Given the description of an element on the screen output the (x, y) to click on. 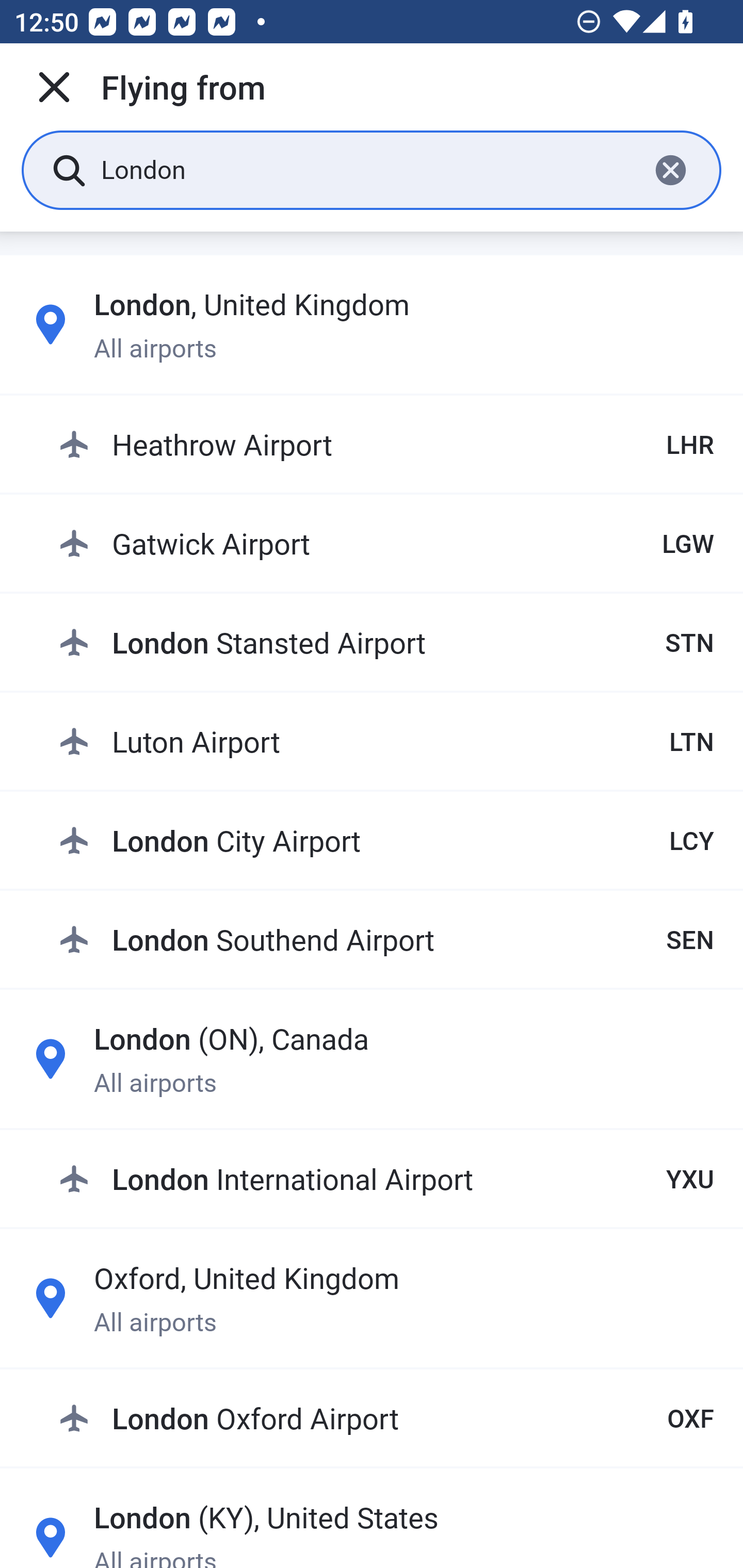
London (367, 169)
London, United Kingdom All airports (371, 324)
Heathrow Airport LHR (385, 444)
Gatwick Airport LGW (385, 543)
London Stansted Airport STN (385, 641)
Luton Airport LTN (385, 740)
London City Airport LCY (385, 839)
London Southend Airport SEN (385, 939)
London (ON), Canada All airports (371, 1059)
London International Airport YXU (385, 1178)
Oxford, United Kingdom All airports (371, 1298)
London Oxford Airport OXF (385, 1418)
London (KY), United States All airports (371, 1531)
